Given the description of an element on the screen output the (x, y) to click on. 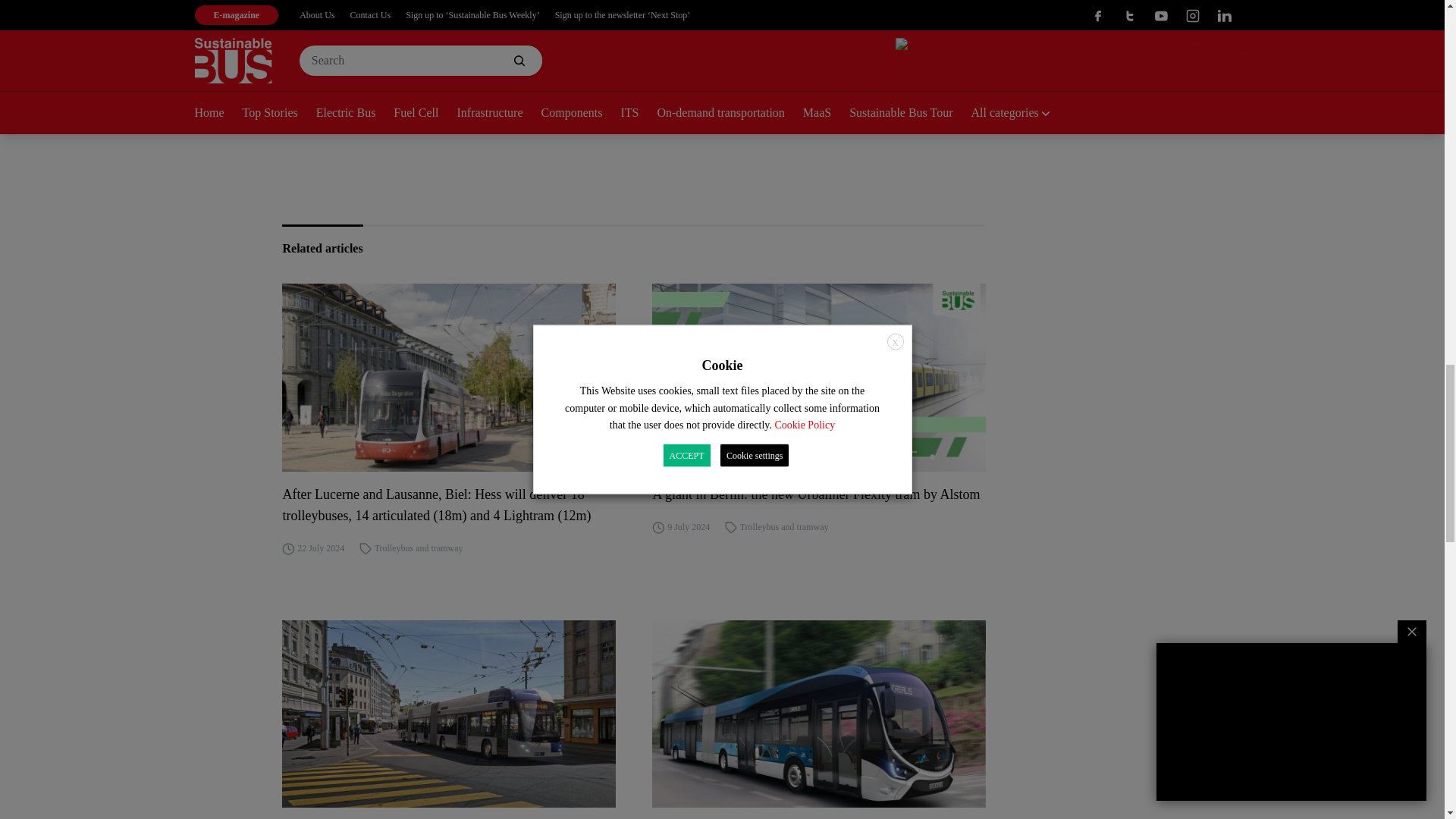
A giant in Berlin: the new Urbaliner Flexity tram by Alstom (818, 377)
A giant in Berlin: the new Urbaliner Flexity tram by Alstom (818, 494)
